Given the description of an element on the screen output the (x, y) to click on. 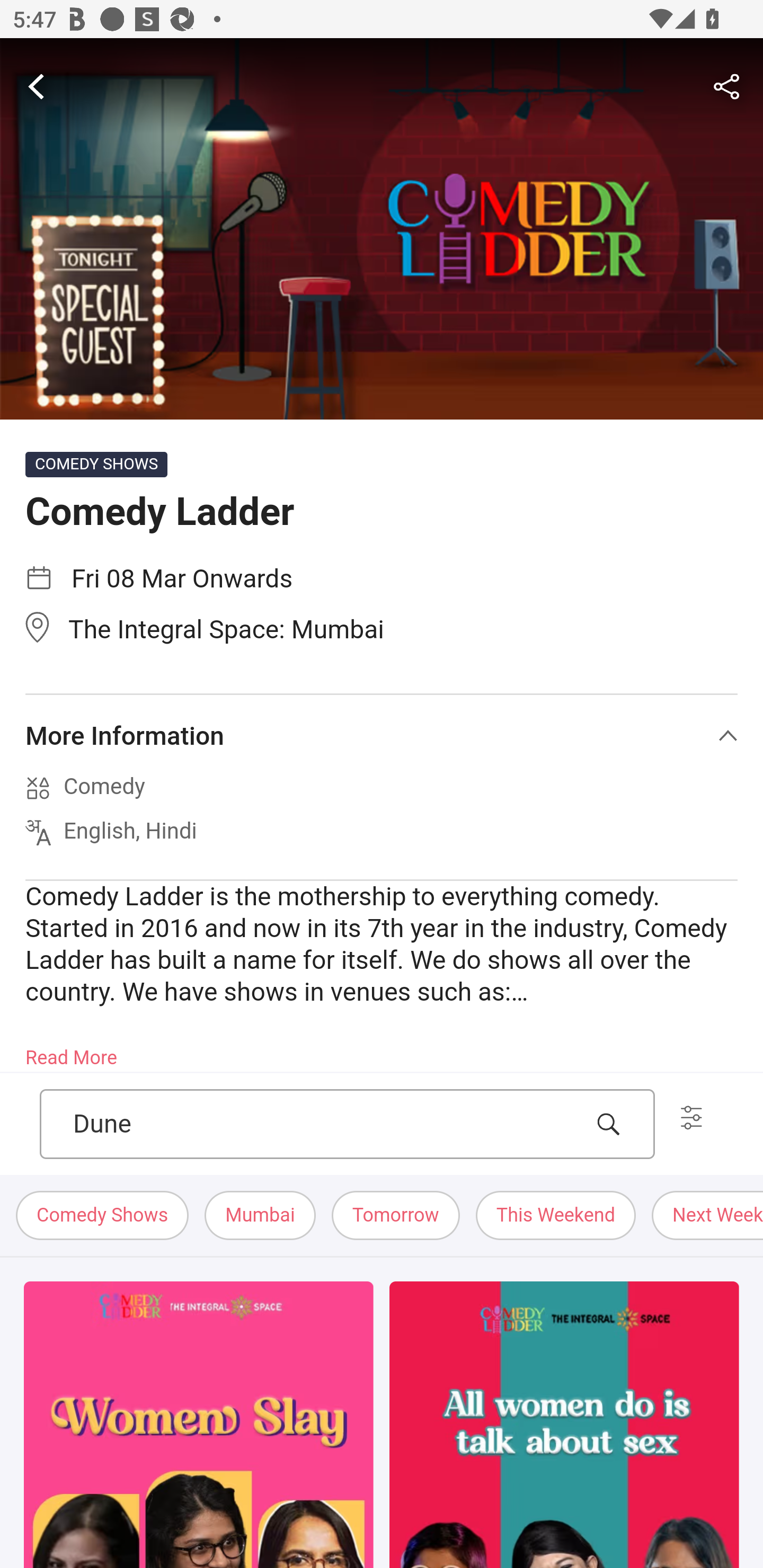
More Information (381, 735)
Read More (71, 1051)
Dune (327, 1124)
Comedy Shows (102, 1215)
Mumbai (259, 1215)
Tomorrow (395, 1215)
This Weekend (556, 1215)
